Given the description of an element on the screen output the (x, y) to click on. 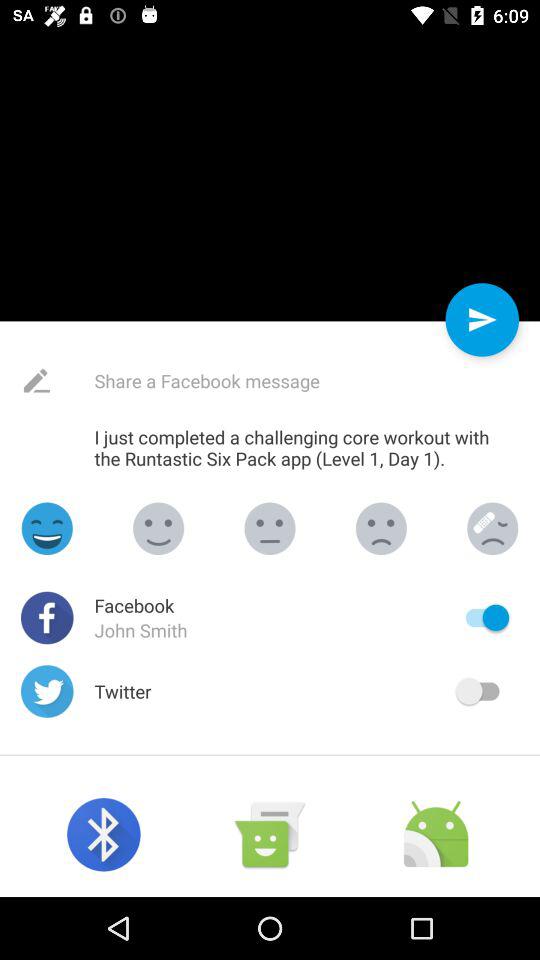
switch autoplay option (482, 617)
